Given the description of an element on the screen output the (x, y) to click on. 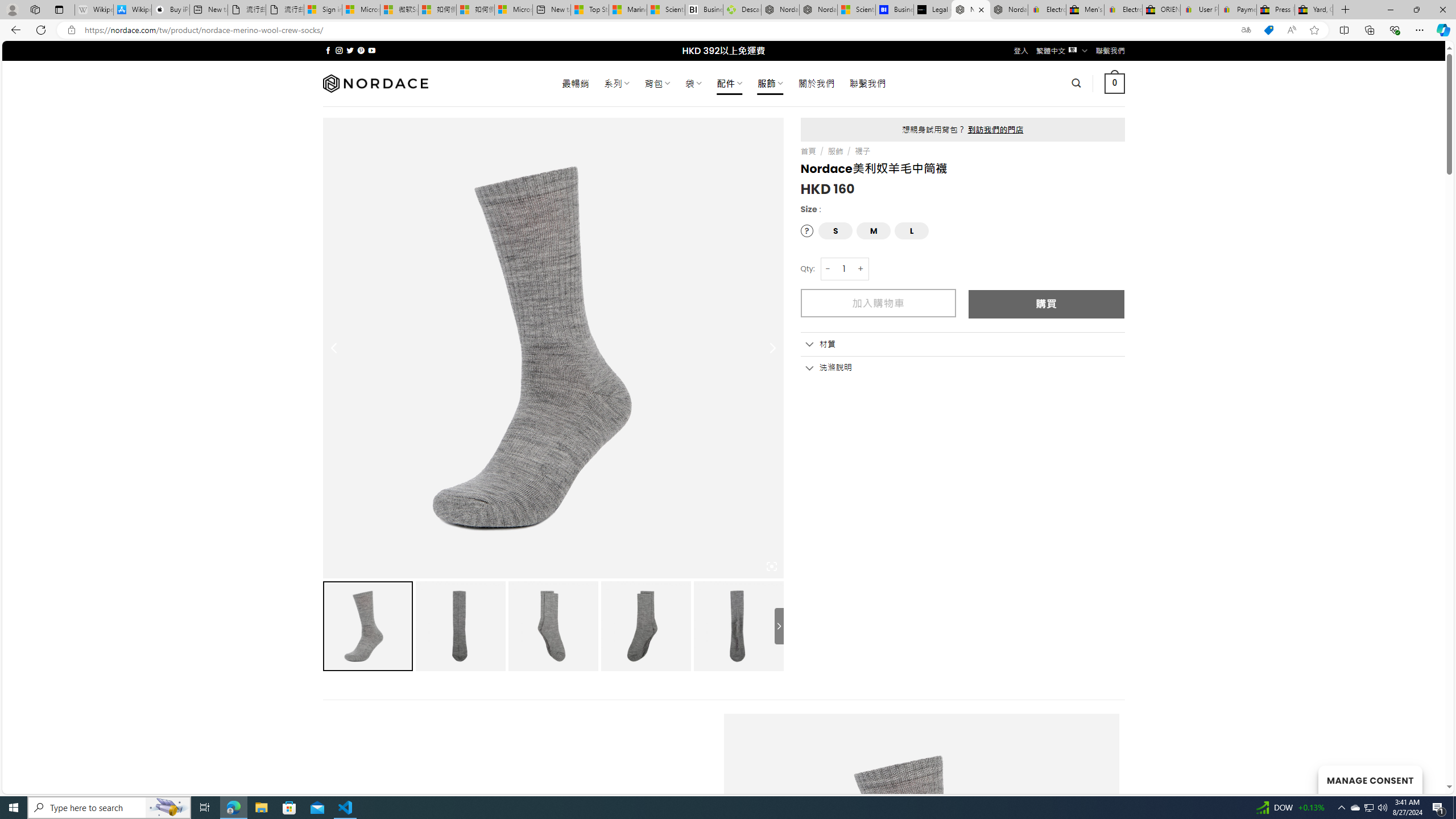
Show translate options (1245, 29)
MANAGE CONSENT (1369, 779)
Descarga Driver Updater (741, 9)
